Given the description of an element on the screen output the (x, y) to click on. 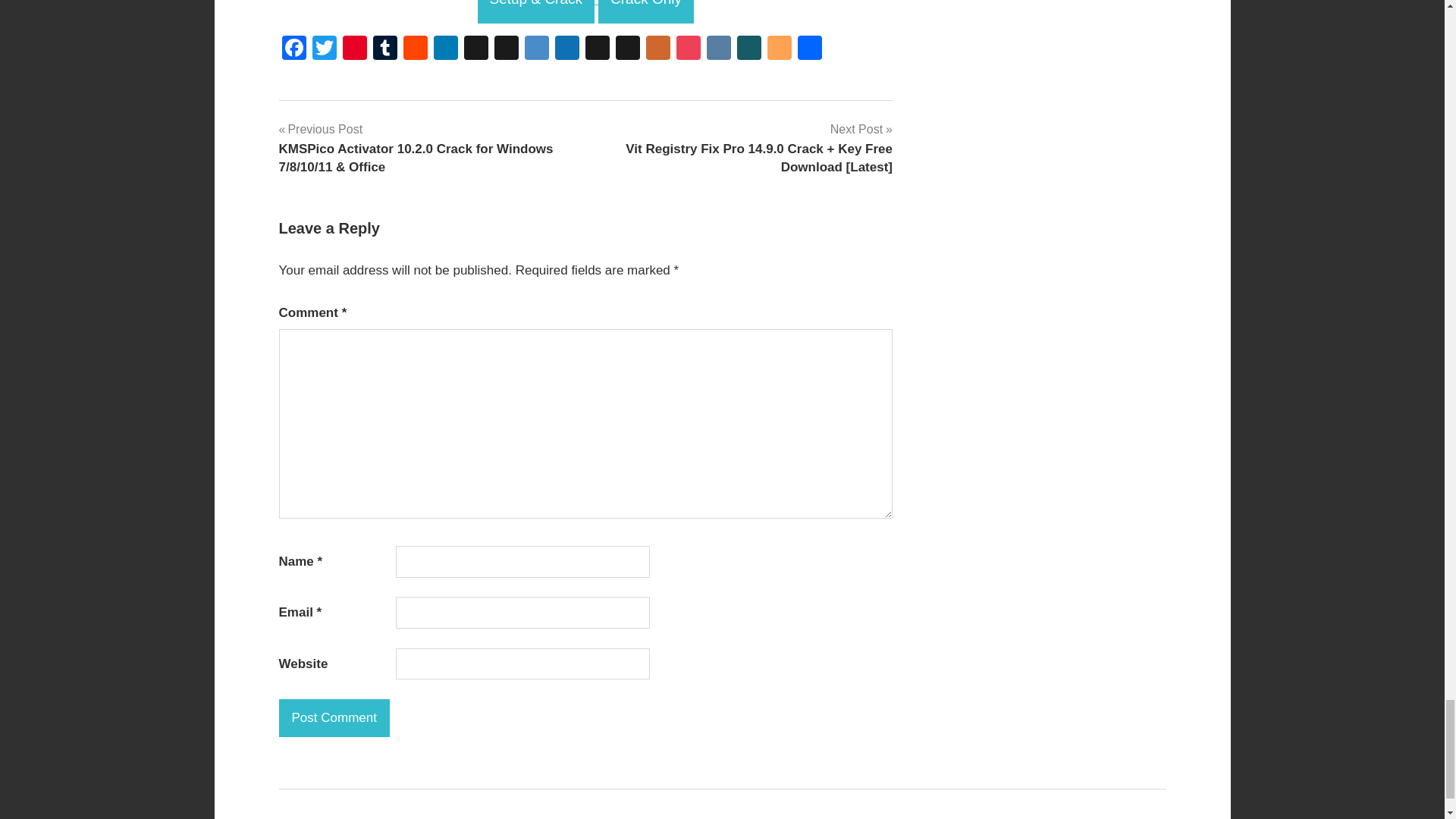
Reddit (415, 49)
Pinterest (354, 49)
LinkedIn (445, 49)
Post Comment (334, 718)
Facebook (293, 49)
MySpace (627, 49)
Tumblr (384, 49)
Tumblr (384, 49)
Facebook (293, 49)
Crack Only (646, 11)
Twitter (323, 49)
Pinterest (354, 49)
Diigo (536, 49)
Instapaper (597, 49)
Twitter (323, 49)
